Given the description of an element on the screen output the (x, y) to click on. 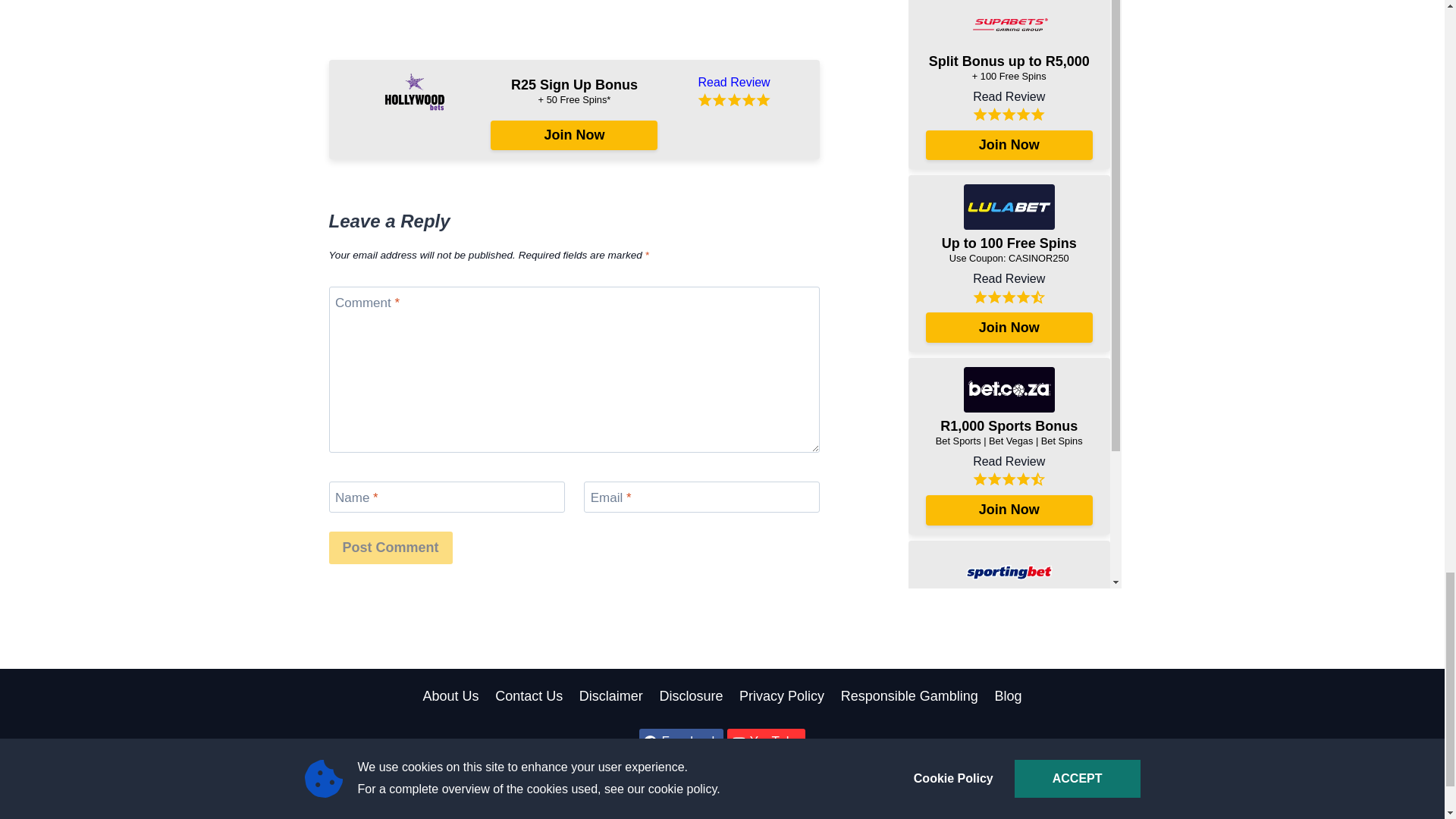
Post Comment (390, 547)
